Given the description of an element on the screen output the (x, y) to click on. 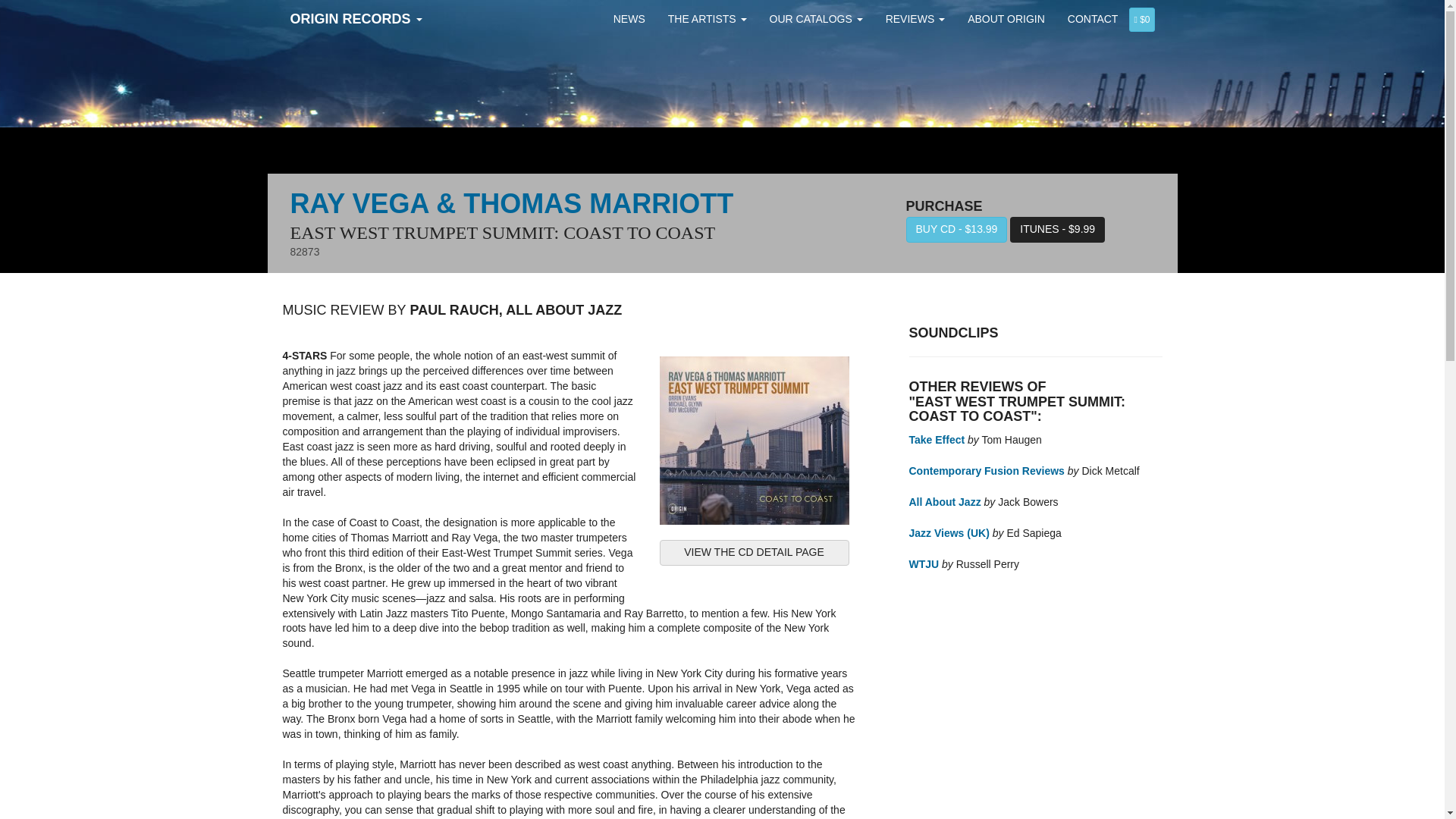
CONTACT (1093, 18)
Take Effect (935, 439)
NEWS (629, 18)
OUR CATALOGS (816, 18)
ORIGIN RECORDS (356, 18)
Contemporary Fusion Reviews (986, 470)
All About Jazz (943, 501)
THE ARTISTS (707, 18)
WTJU (923, 563)
ABOUT ORIGIN (1006, 18)
VIEW THE CD DETAIL PAGE (753, 552)
REVIEWS (915, 18)
